Given the description of an element on the screen output the (x, y) to click on. 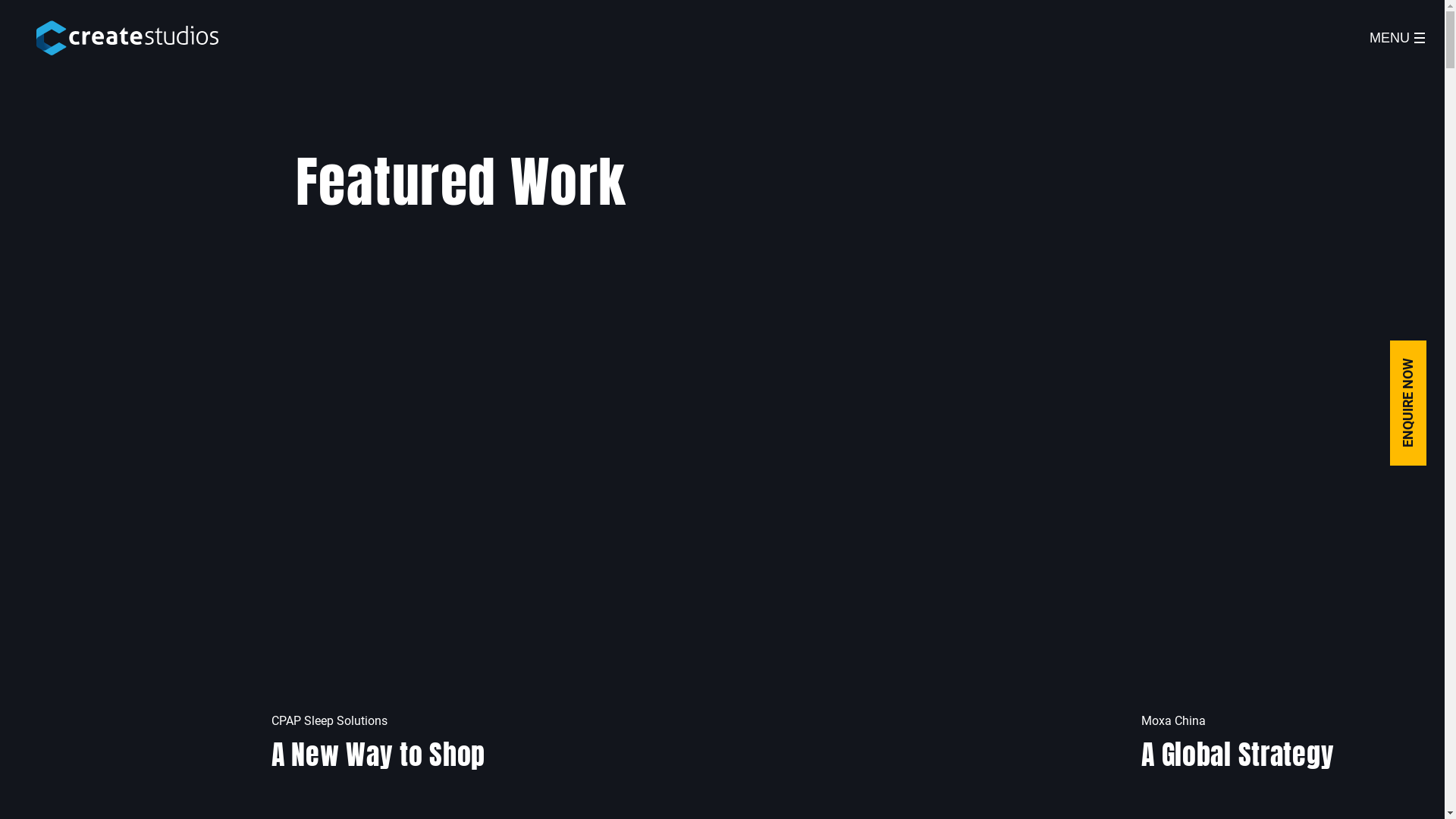
MENU Element type: text (1396, 37)
A New Way to Shop Element type: hover (630, 538)
